Given the description of an element on the screen output the (x, y) to click on. 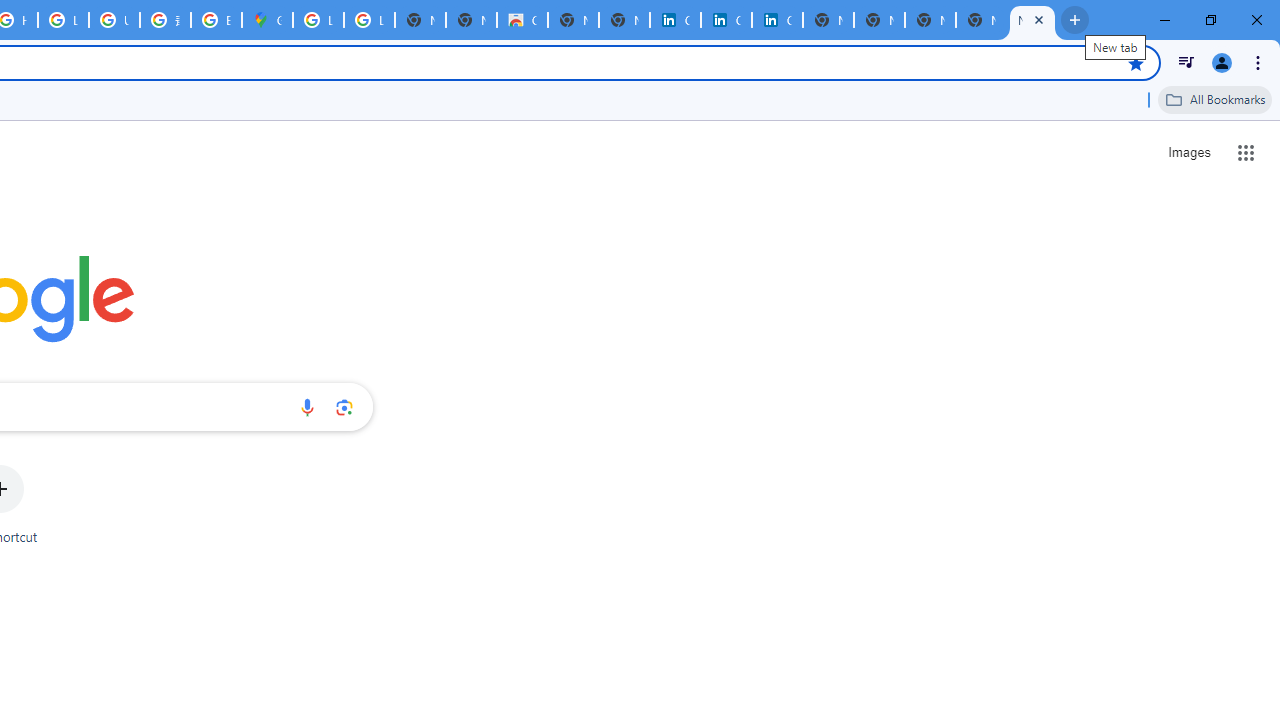
New Tab (1032, 20)
